Given the description of an element on the screen output the (x, y) to click on. 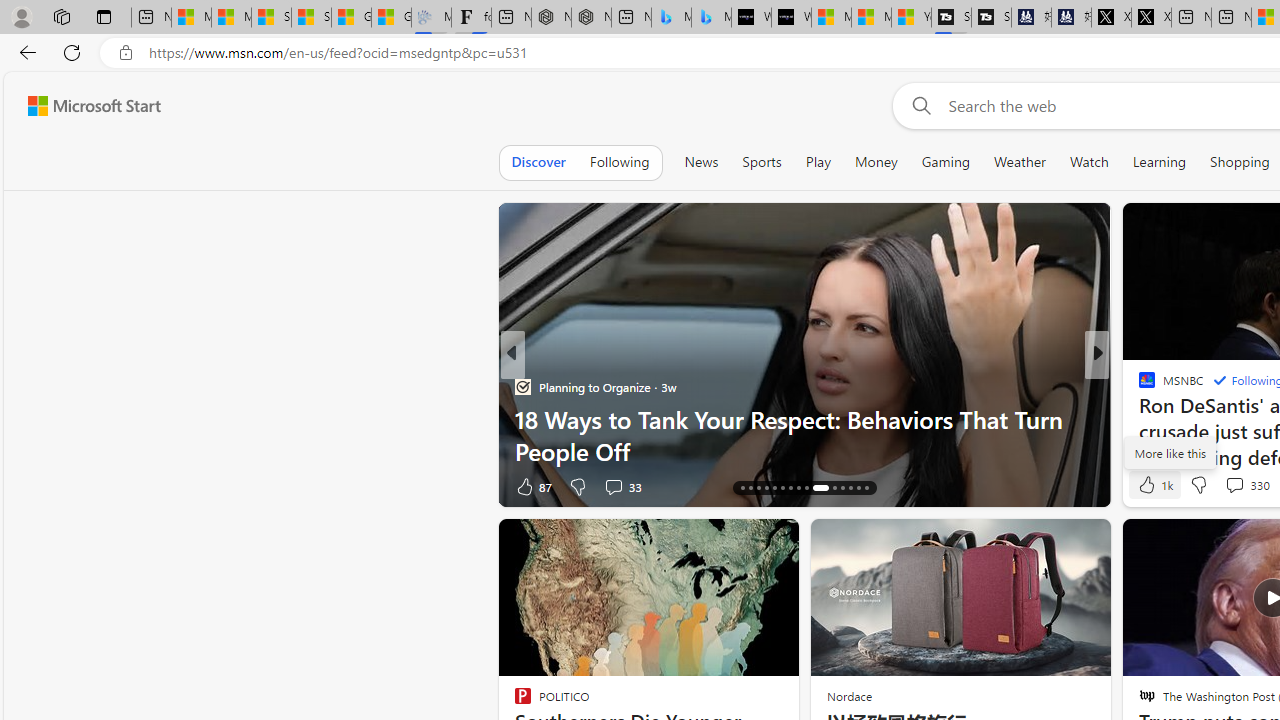
AutomationID: tab-21 (782, 487)
You're following FOX News (445, 490)
View comments 330 Comment (1234, 485)
View comments 266 Comment (1247, 486)
View comments 1 Comment (1229, 485)
AutomationID: tab-25 (820, 487)
44 Like (1149, 486)
497 Like (1151, 486)
View comments 55 Comment (1229, 485)
